Given the description of an element on the screen output the (x, y) to click on. 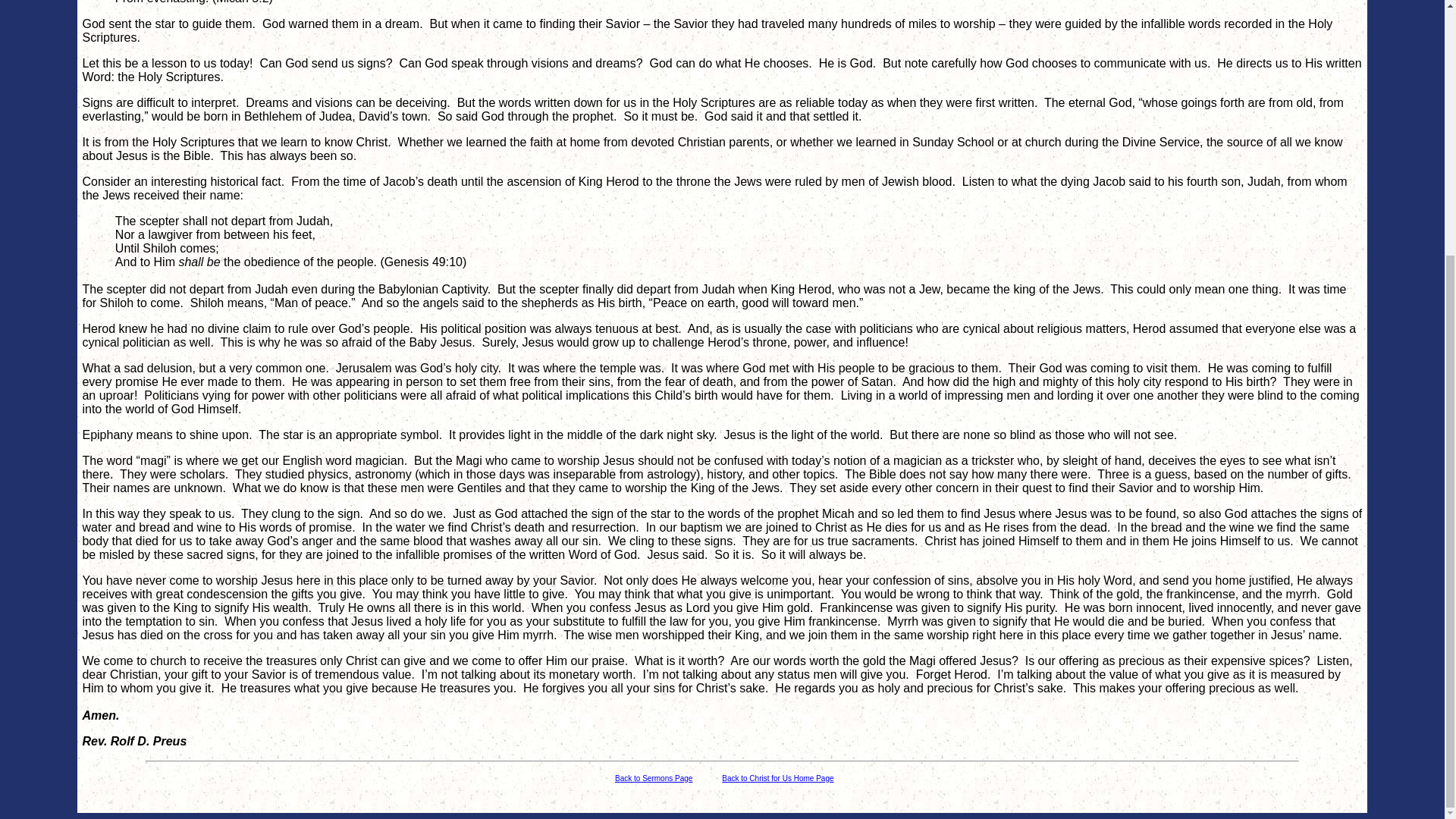
Back to Sermons Page (653, 777)
Back to Christ for Us Home Page (777, 776)
